Given the description of an element on the screen output the (x, y) to click on. 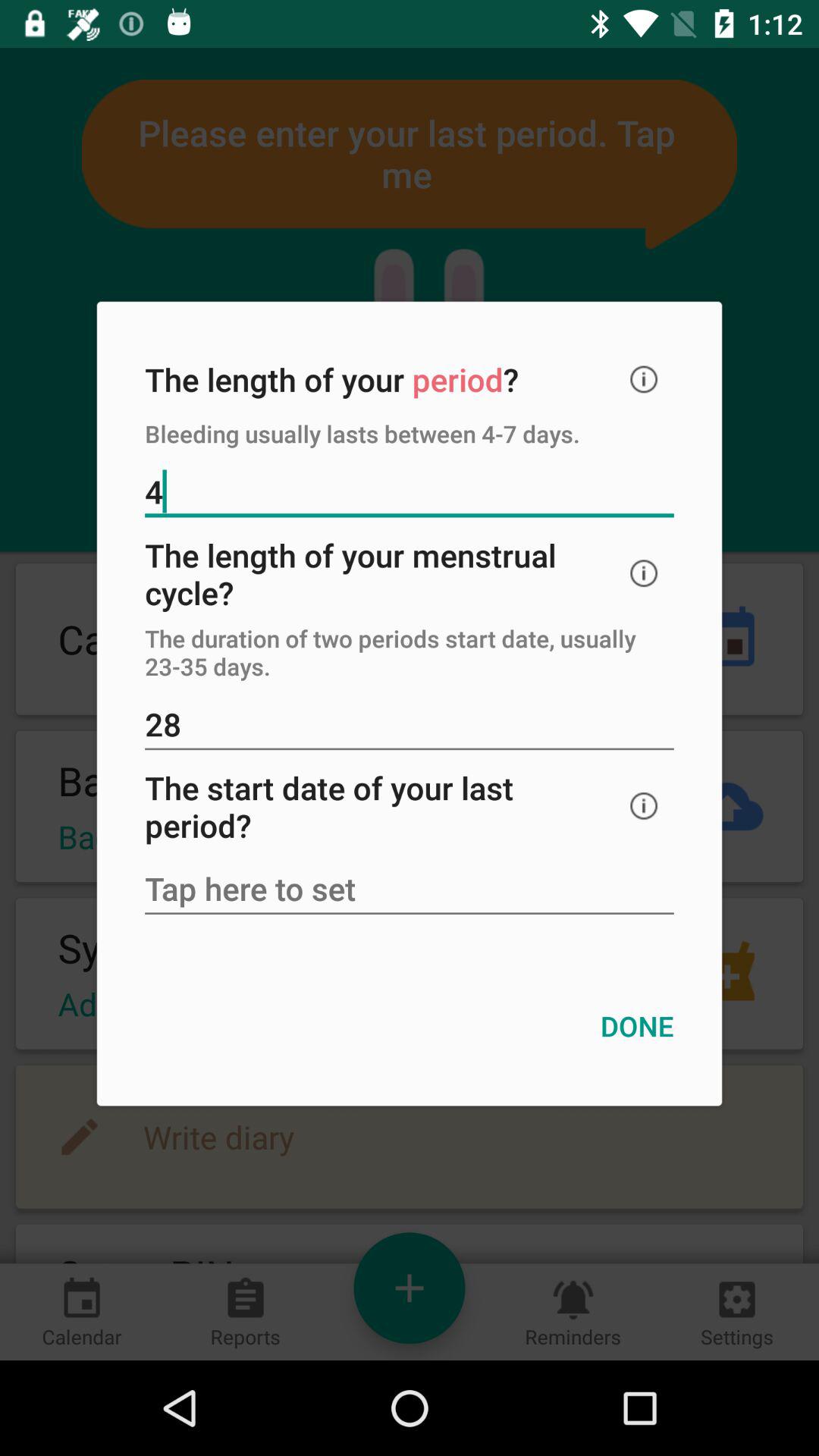
read more information (643, 573)
